Given the description of an element on the screen output the (x, y) to click on. 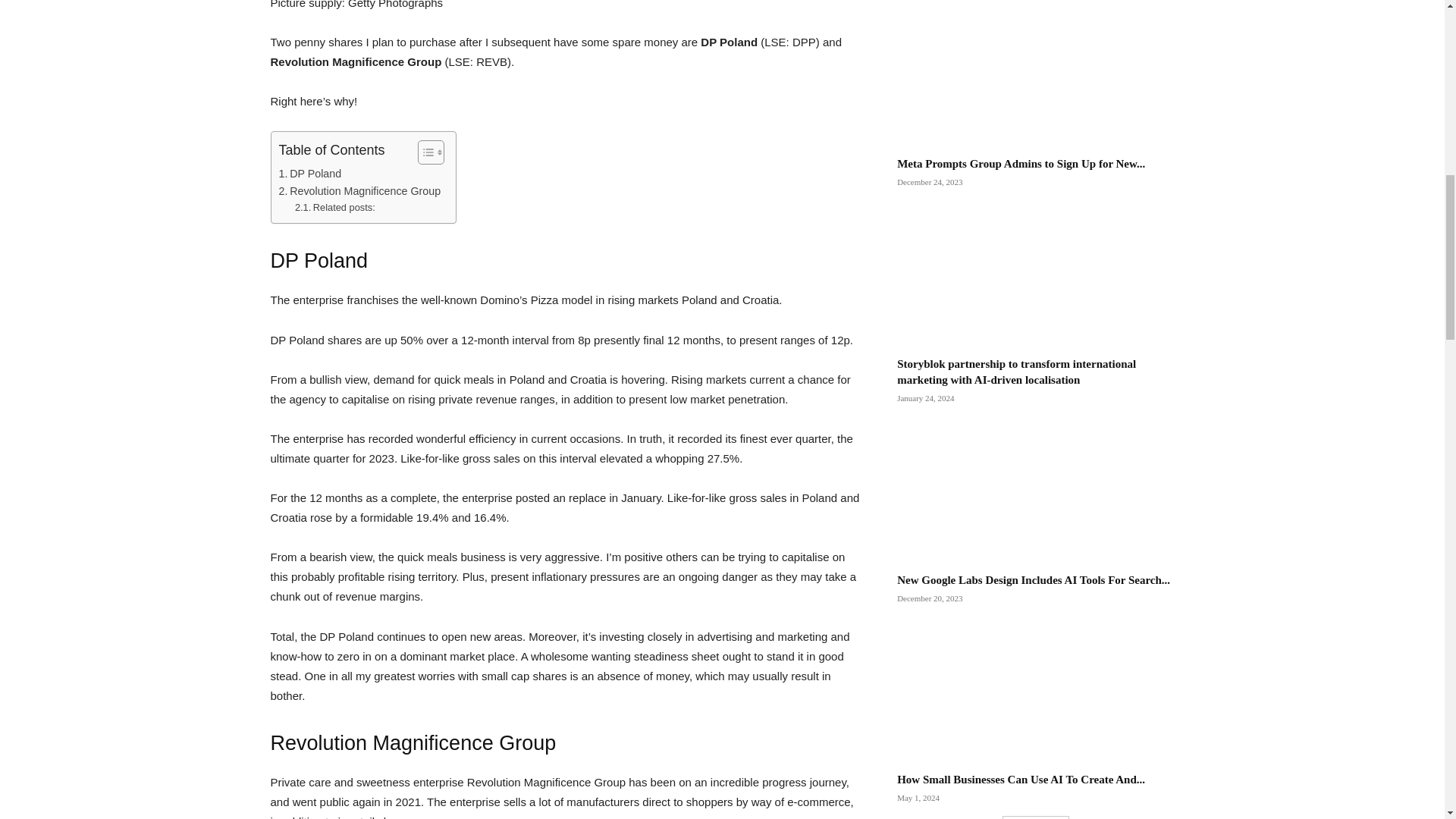
DP Poland (310, 173)
DP Poland (310, 173)
Related posts: (335, 207)
Revolution Magnificence Group (360, 190)
Revolution Magnificence Group (360, 190)
